Given the description of an element on the screen output the (x, y) to click on. 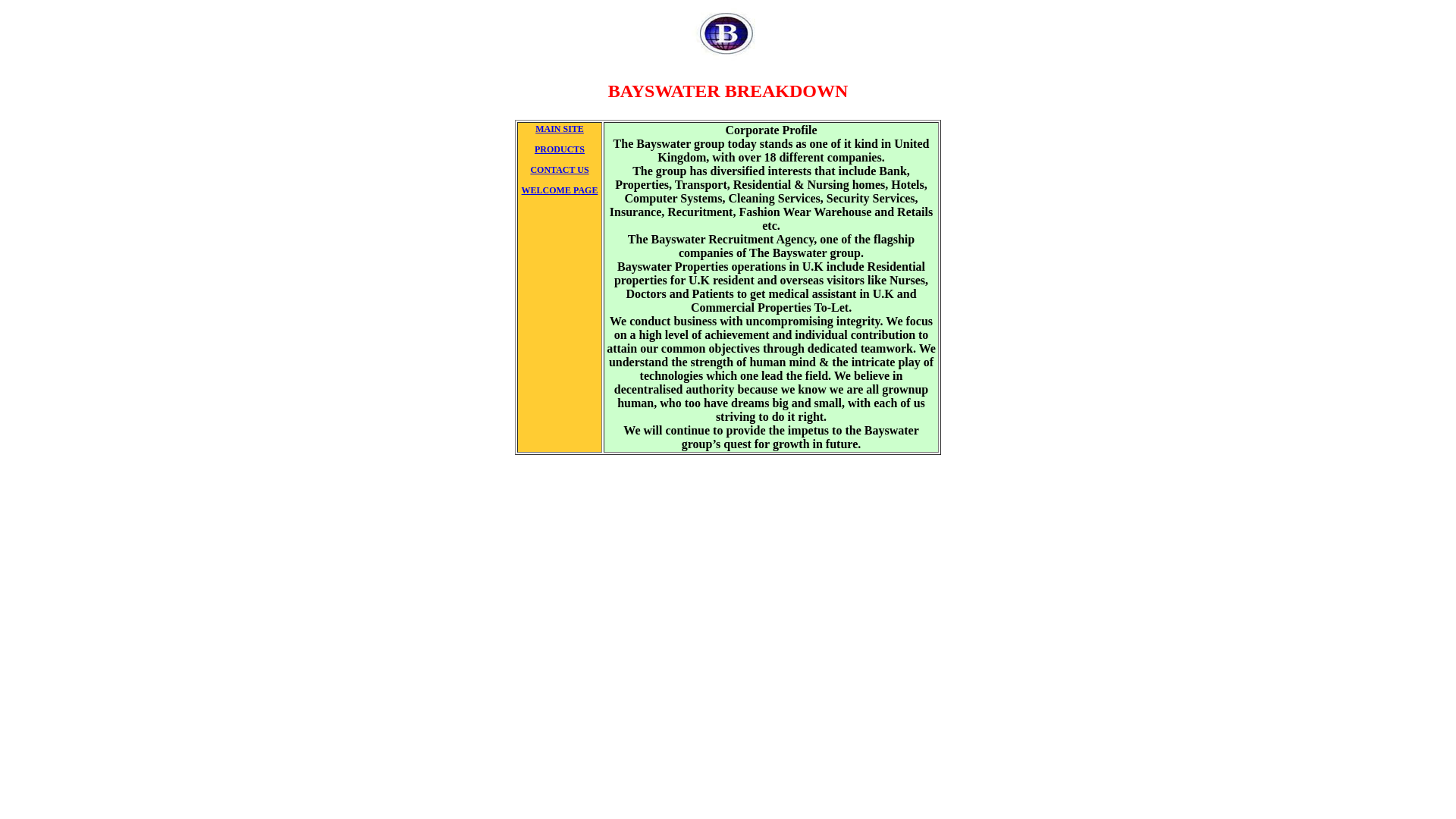
MAIN SITE (559, 128)
WELCOME PAGE (559, 190)
PRODUCTS (559, 149)
CONTACT US (558, 169)
